Given the description of an element on the screen output the (x, y) to click on. 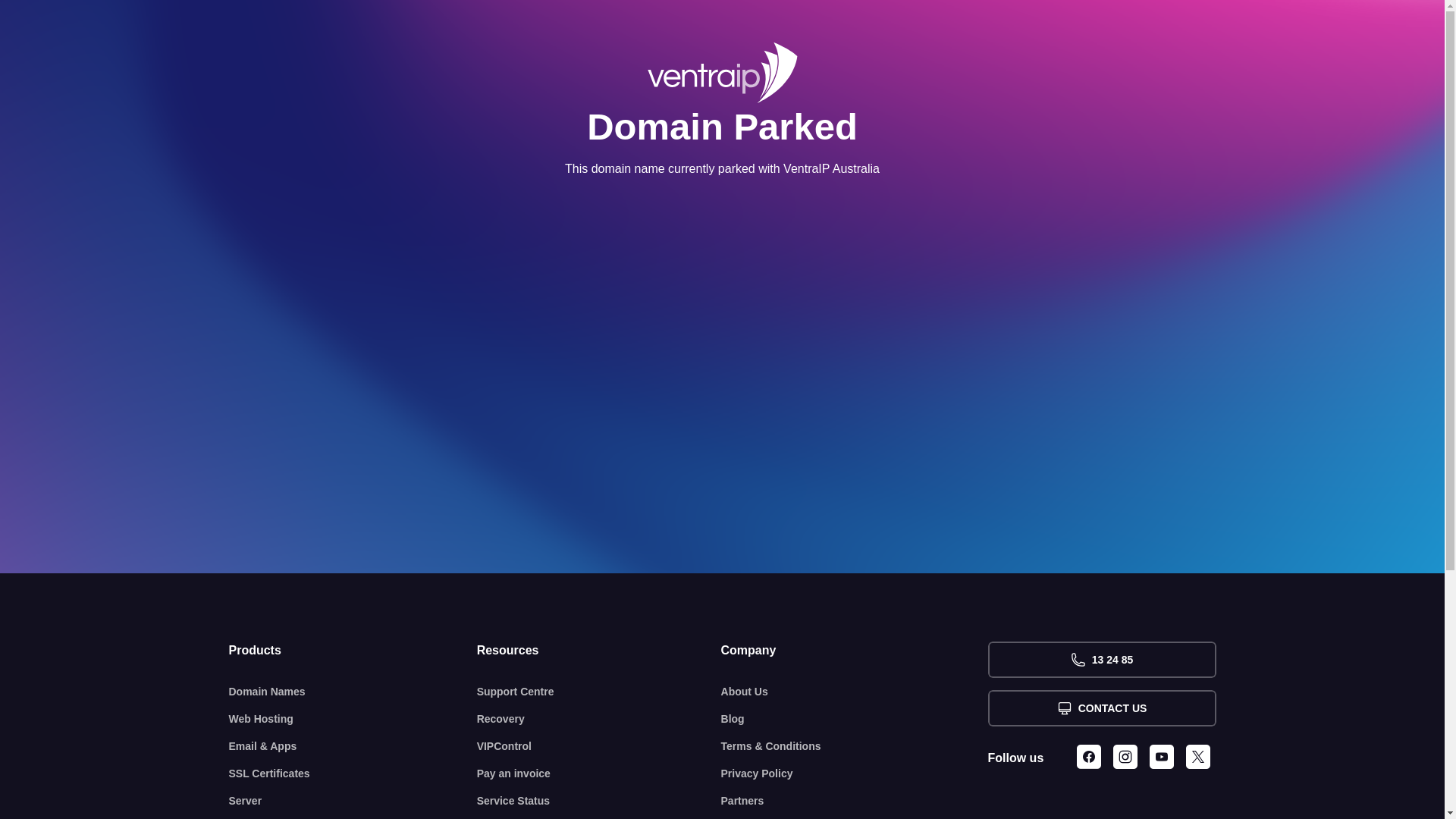
Server Element type: text (352, 800)
CONTACT US Element type: text (1101, 708)
Web Hosting Element type: text (352, 718)
Terms & Conditions Element type: text (854, 745)
SSL Certificates Element type: text (352, 773)
Domain Names Element type: text (352, 691)
Recovery Element type: text (598, 718)
VIPControl Element type: text (598, 745)
Pay an invoice Element type: text (598, 773)
13 24 85 Element type: text (1101, 659)
Privacy Policy Element type: text (854, 773)
Blog Element type: text (854, 718)
Service Status Element type: text (598, 800)
Email & Apps Element type: text (352, 745)
About Us Element type: text (854, 691)
Partners Element type: text (854, 800)
Support Centre Element type: text (598, 691)
